Given the description of an element on the screen output the (x, y) to click on. 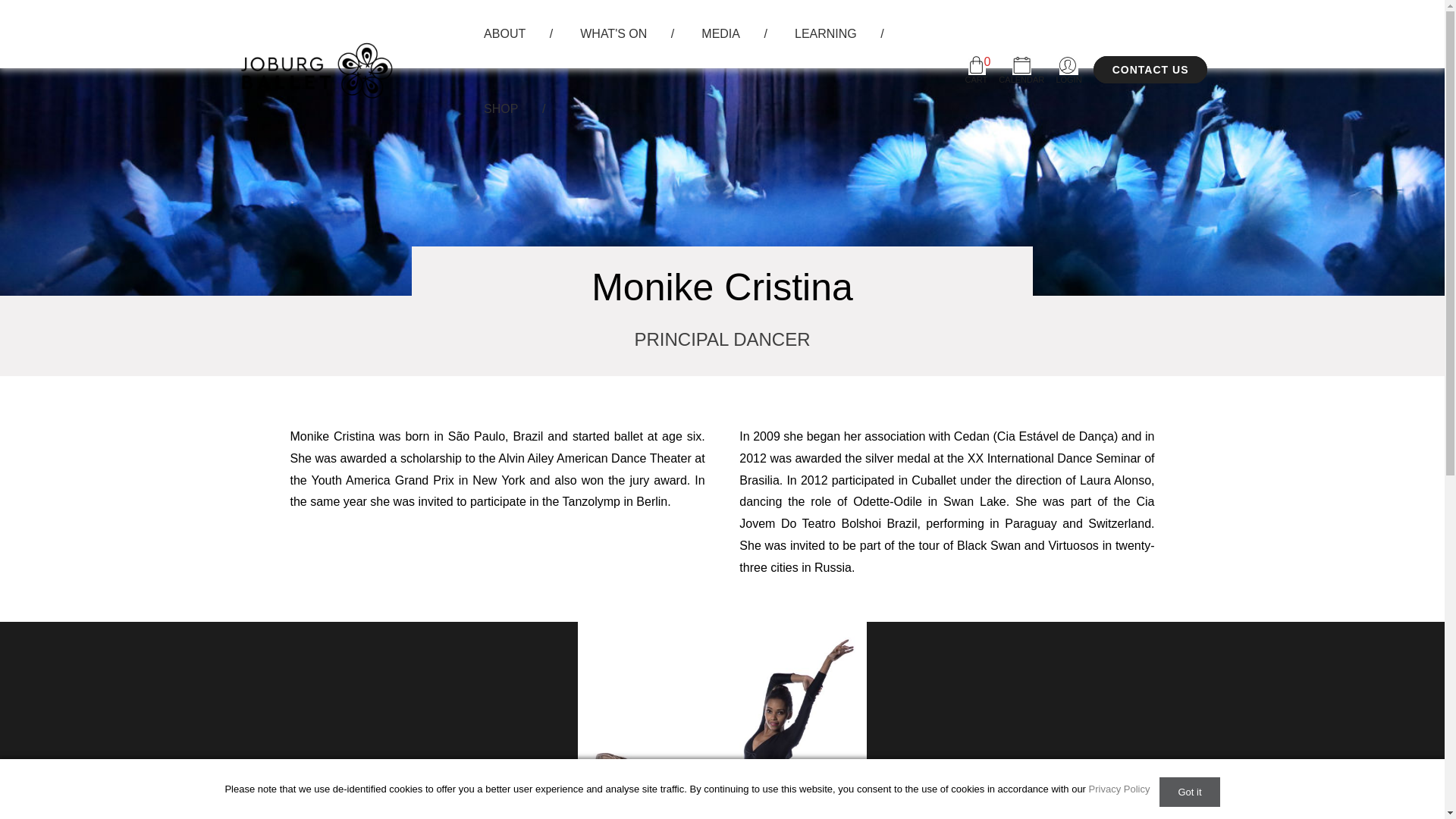
CONTACT US (1150, 69)
MEDIA (720, 37)
SHOP (500, 112)
LOGIN (1068, 69)
ABOUT (505, 37)
WHAT'S ON (613, 37)
CALENDAR (1020, 69)
LEARNING (825, 37)
